Given the description of an element on the screen output the (x, y) to click on. 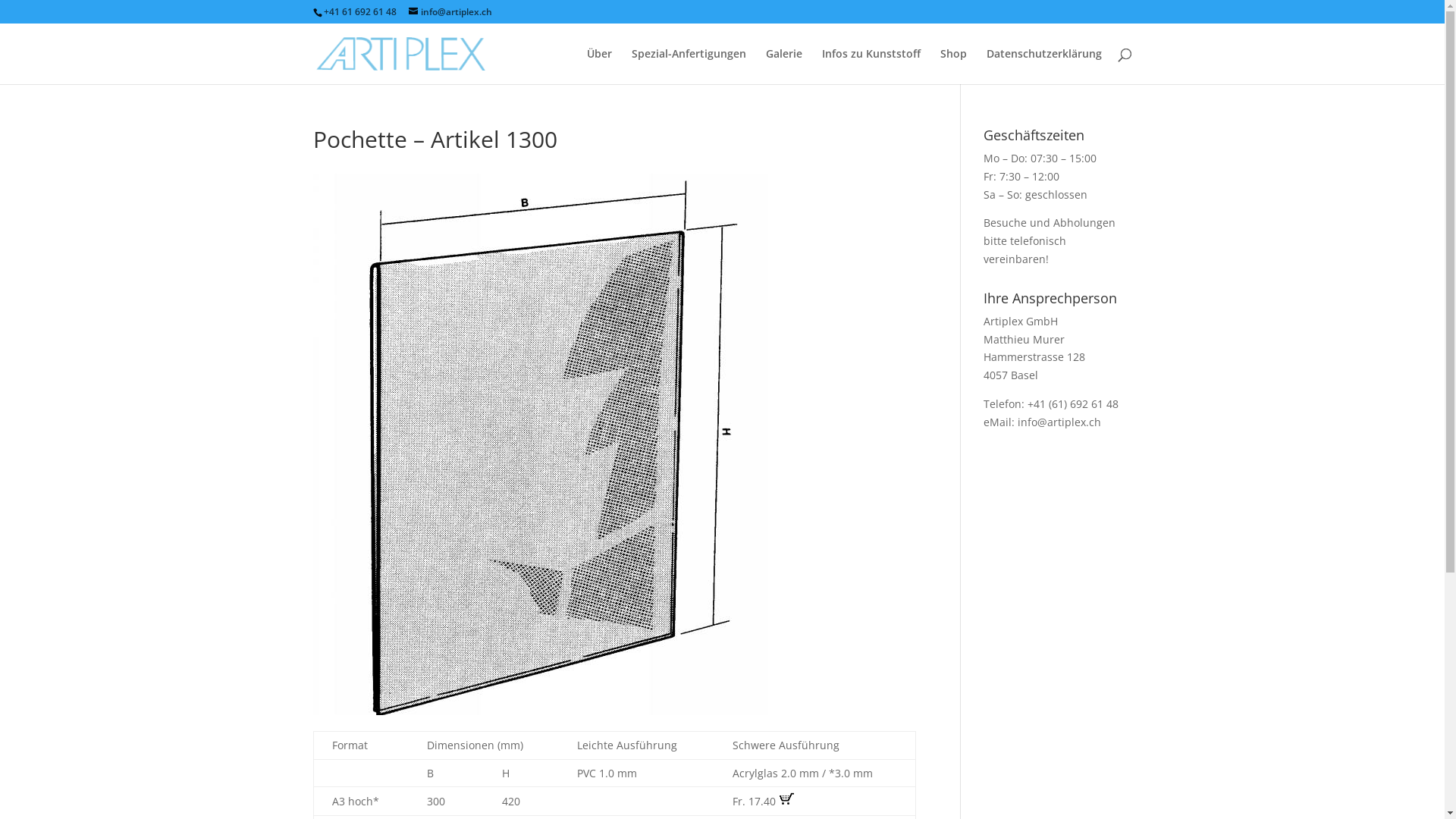
info@artiplex.ch Element type: text (449, 11)
Shop Element type: text (953, 66)
info@artiplex.ch Element type: text (1059, 421)
Spezial-Anfertigungen Element type: text (687, 66)
Infos zu Kunststoff Element type: text (871, 66)
+41 61 692 61 48 Element type: text (359, 11)
Galerie Element type: text (783, 66)
